Given the description of an element on the screen output the (x, y) to click on. 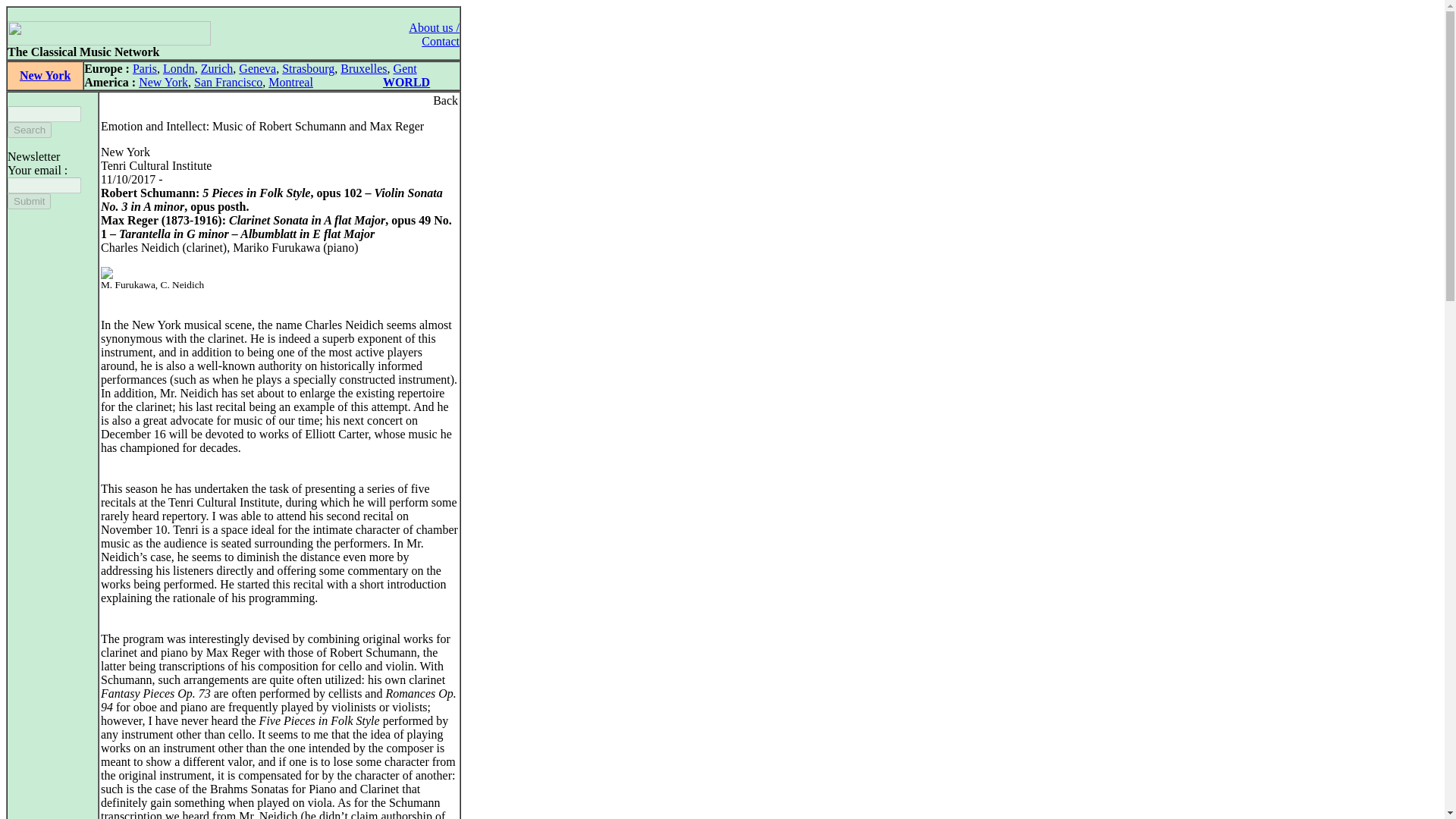
Strasbourg (308, 68)
San Francisco (227, 82)
Zurich (216, 68)
Londn (179, 68)
Montreal (290, 82)
Submit (28, 201)
Bruxelles (363, 68)
Paris (144, 68)
Submit (28, 201)
Geneva (257, 68)
New York (44, 74)
New York (162, 82)
WORLD (405, 82)
Gent (404, 68)
Search (28, 130)
